Given the description of an element on the screen output the (x, y) to click on. 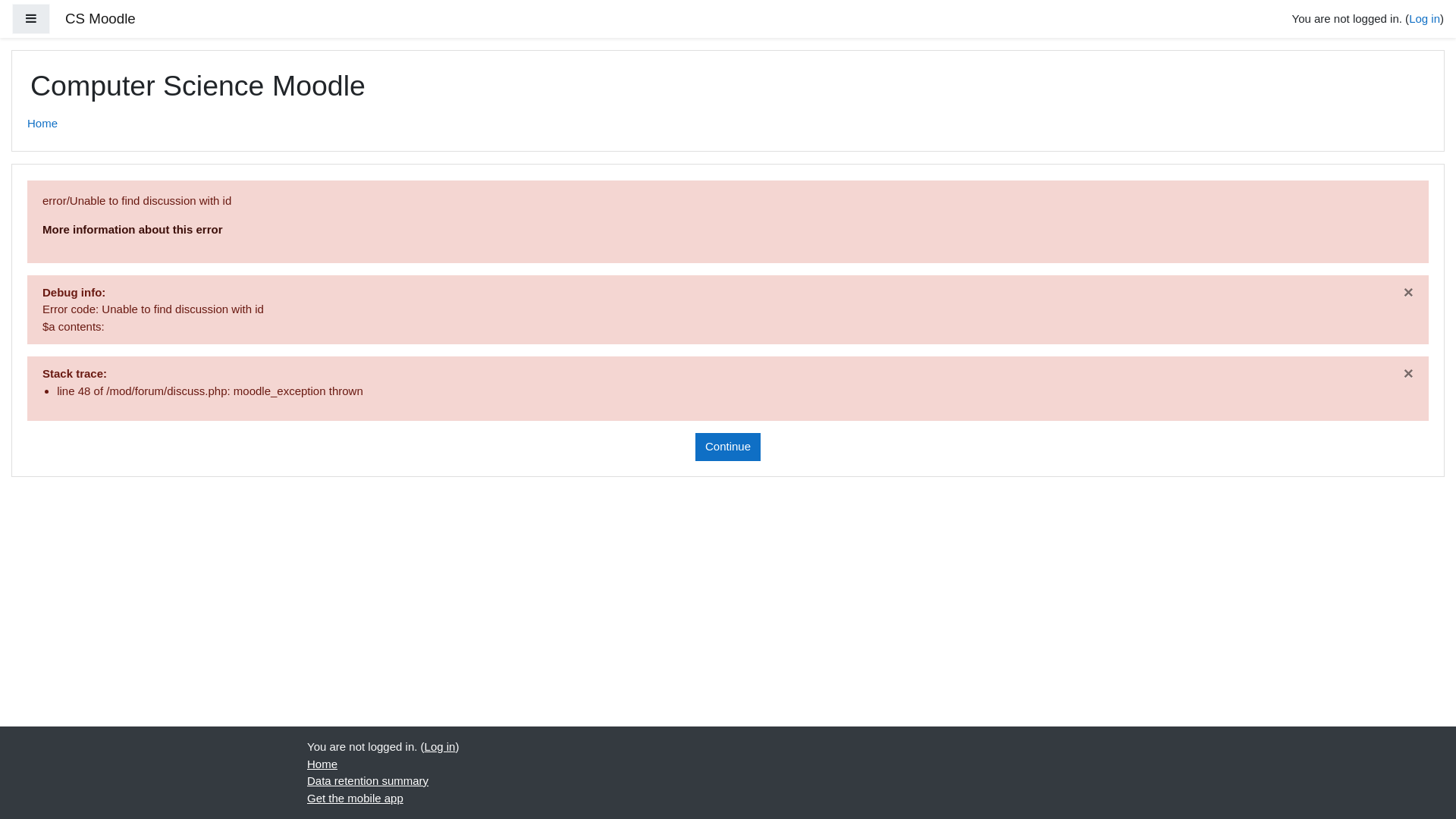
Side panel Element type: text (31, 18)
Get the mobile app Element type: text (355, 797)
Home Element type: text (42, 123)
More information about this error Element type: text (132, 228)
Log in Element type: text (1424, 18)
Log in Element type: text (439, 746)
Home Element type: text (322, 762)
Data retention summary Element type: text (367, 780)
CS Moodle Element type: text (100, 19)
Continue Element type: text (727, 447)
